Given the description of an element on the screen output the (x, y) to click on. 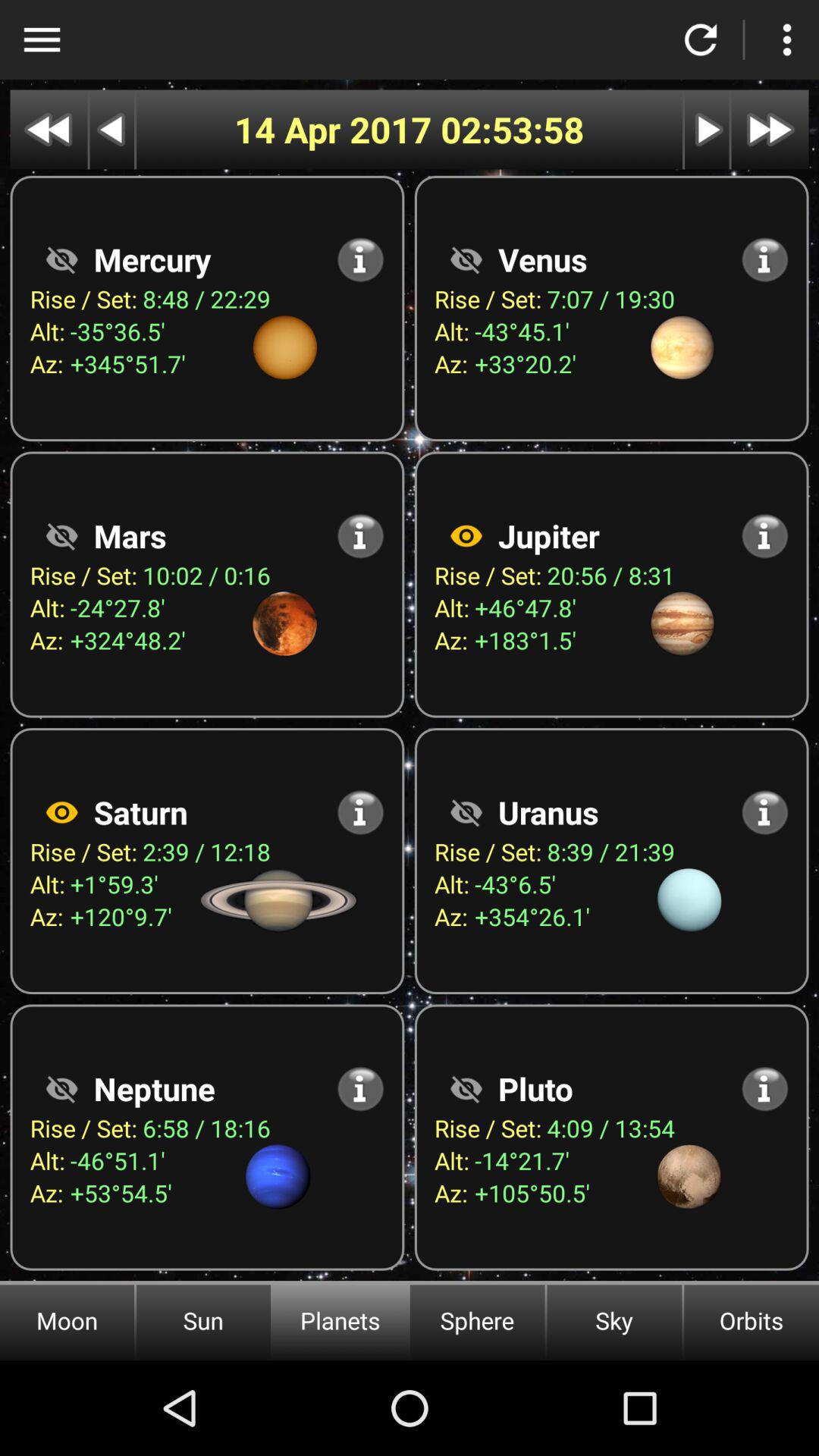
open app menu (41, 39)
